Given the description of an element on the screen output the (x, y) to click on. 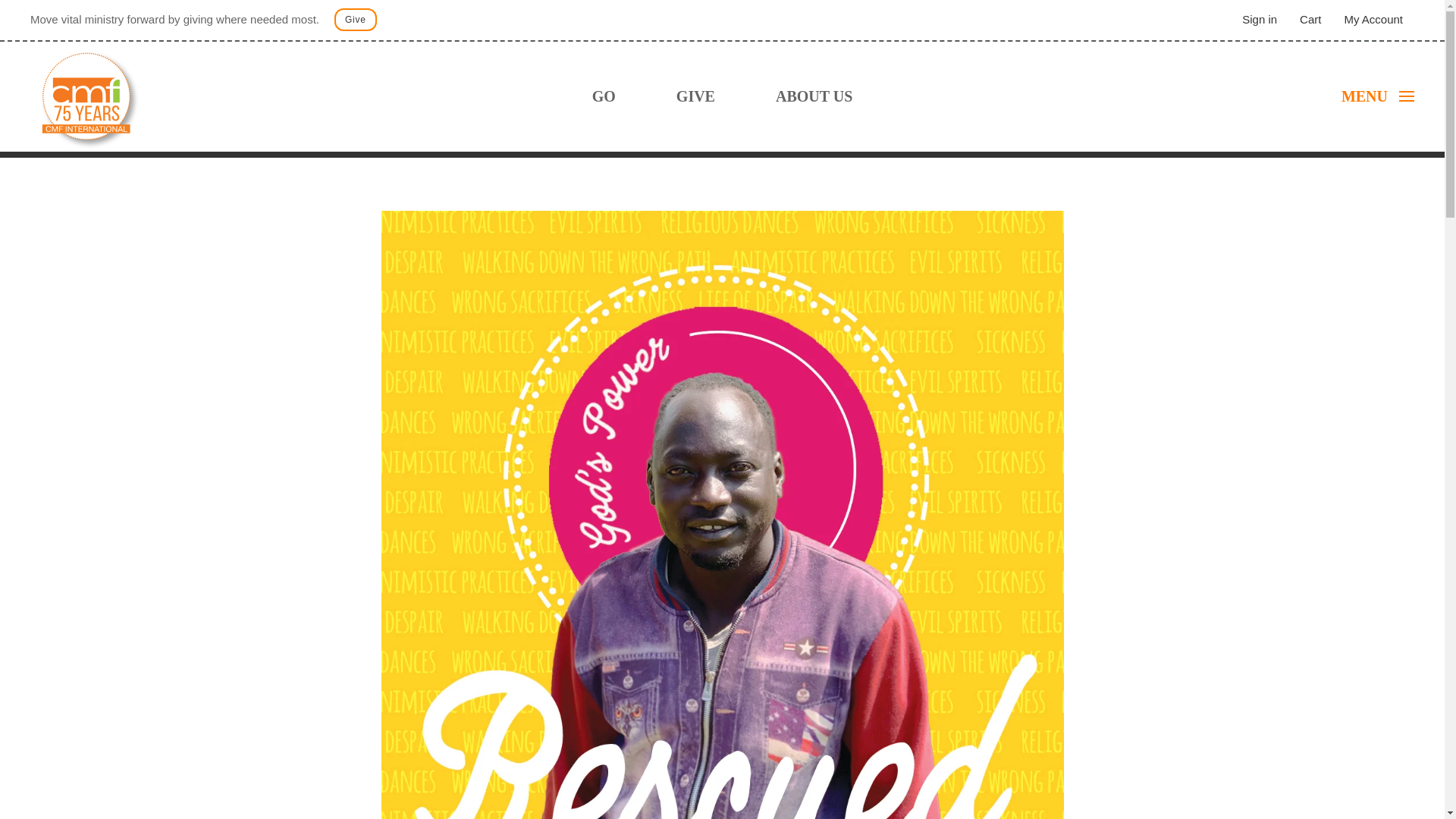
Account (1373, 19)
ABOUT US (813, 96)
My Account (1373, 19)
Give (355, 19)
Sign in (1258, 19)
Sign in (1258, 19)
Cart (1310, 19)
Cart (1310, 19)
